Given the description of an element on the screen output the (x, y) to click on. 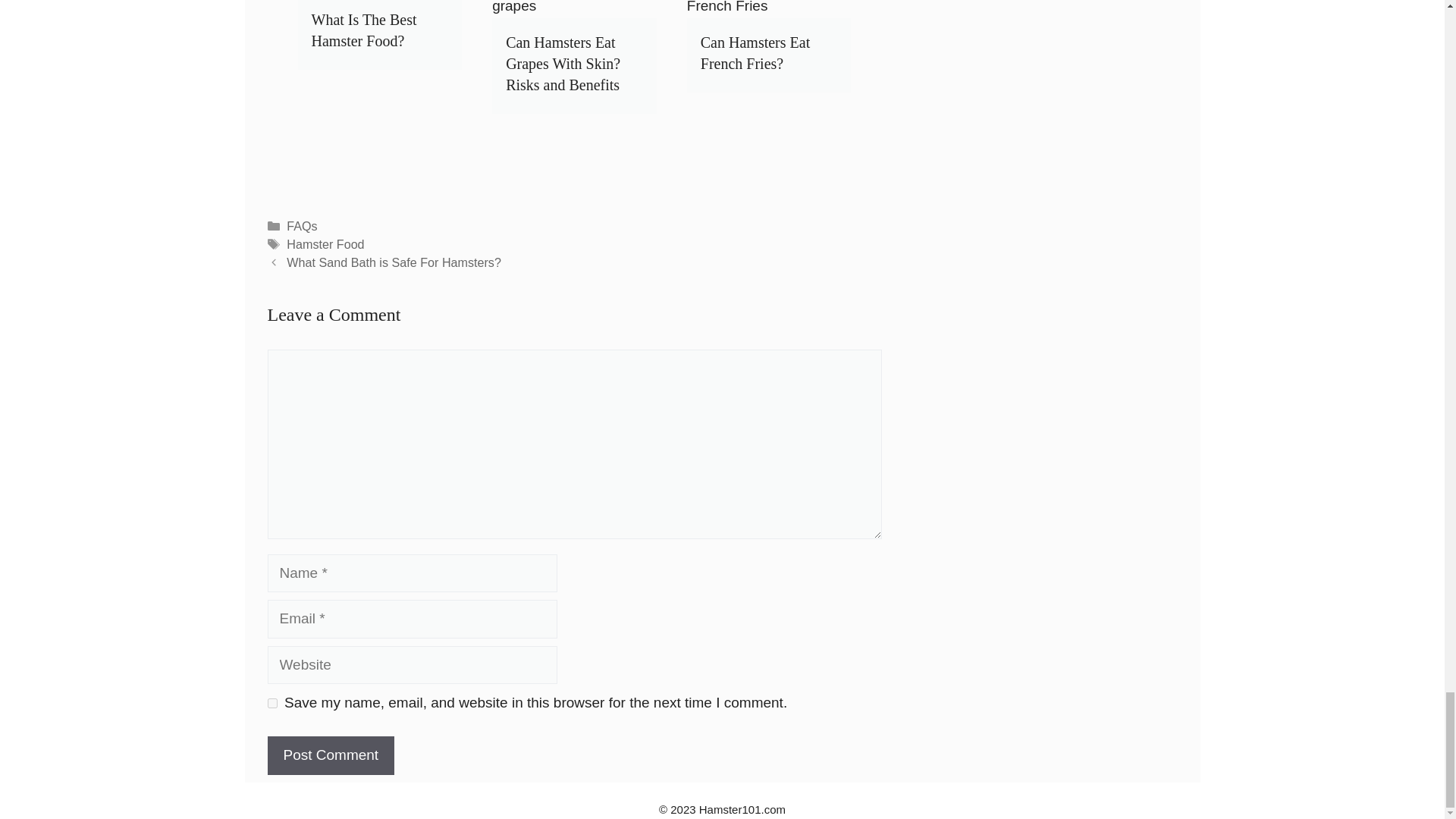
Can Hamsters Eat French Fries? (754, 53)
What Is The Best Hamster Food? (363, 30)
yes (271, 703)
Hamster101.com (742, 809)
FAQs (301, 225)
Post Comment (330, 755)
Hamster Food (325, 243)
Post Comment (330, 755)
What Sand Bath is Safe For Hamsters? (393, 262)
Can Hamsters Eat Grapes With Skin? Risks and Benefits (562, 63)
